Given the description of an element on the screen output the (x, y) to click on. 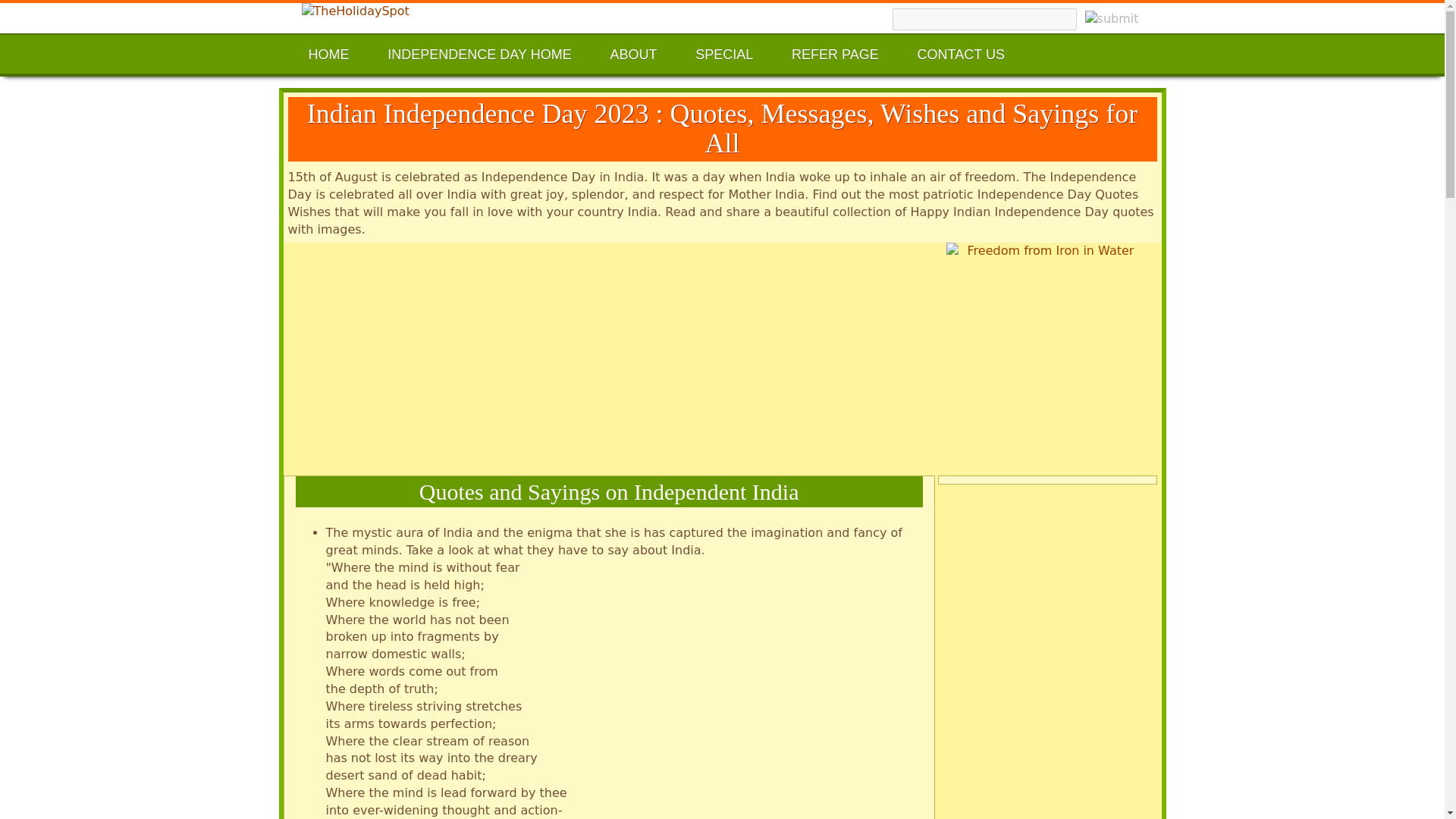
ABOUT (632, 53)
SPECIAL (724, 53)
REFER PAGE (834, 53)
TheHolidaySpot (434, 11)
INDEPENDENCE DAY HOME (479, 53)
CONTACT US (961, 53)
HOME (328, 53)
